Given the description of an element on the screen output the (x, y) to click on. 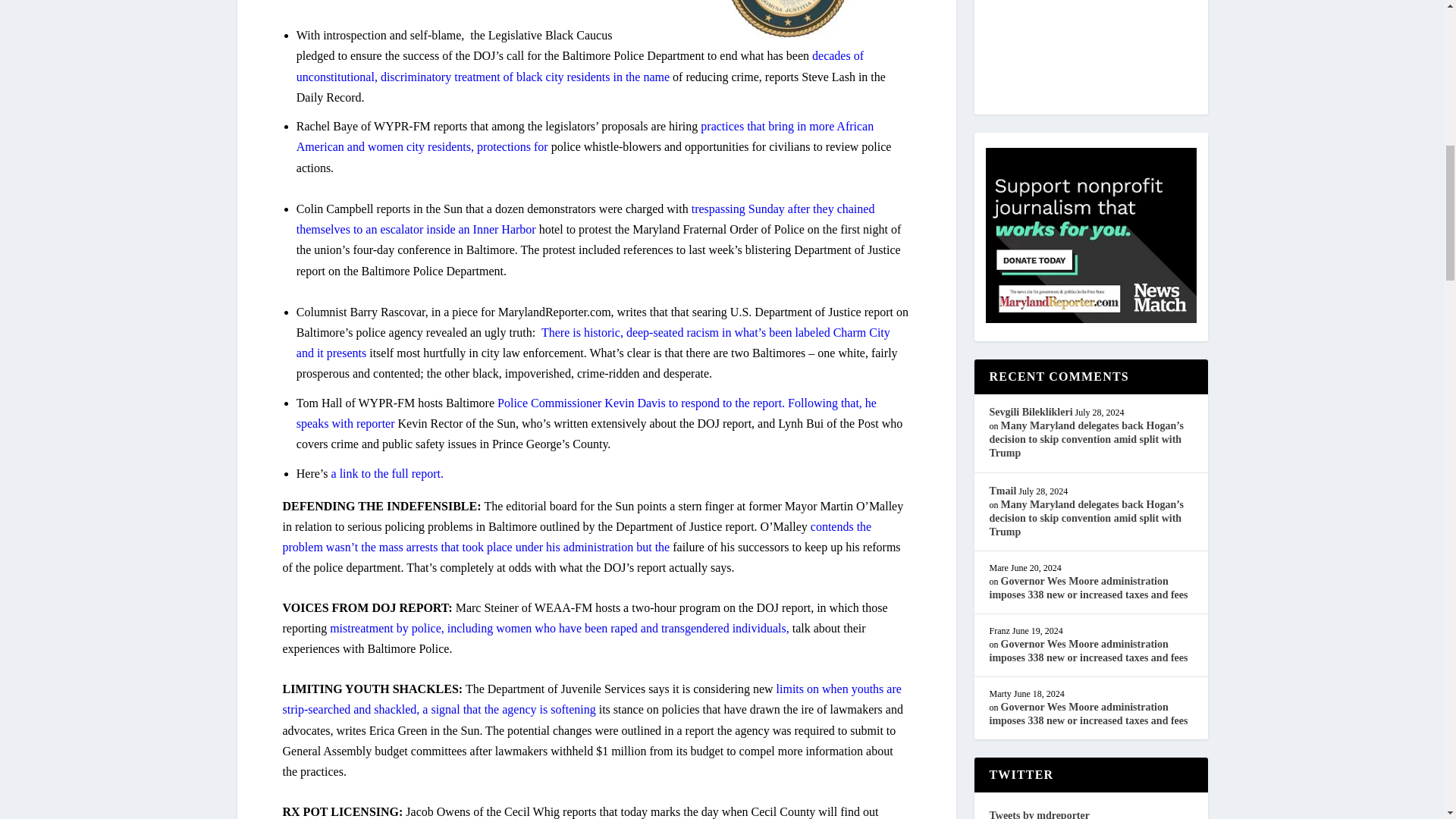
a link to the full report. (387, 472)
